Given the description of an element on the screen output the (x, y) to click on. 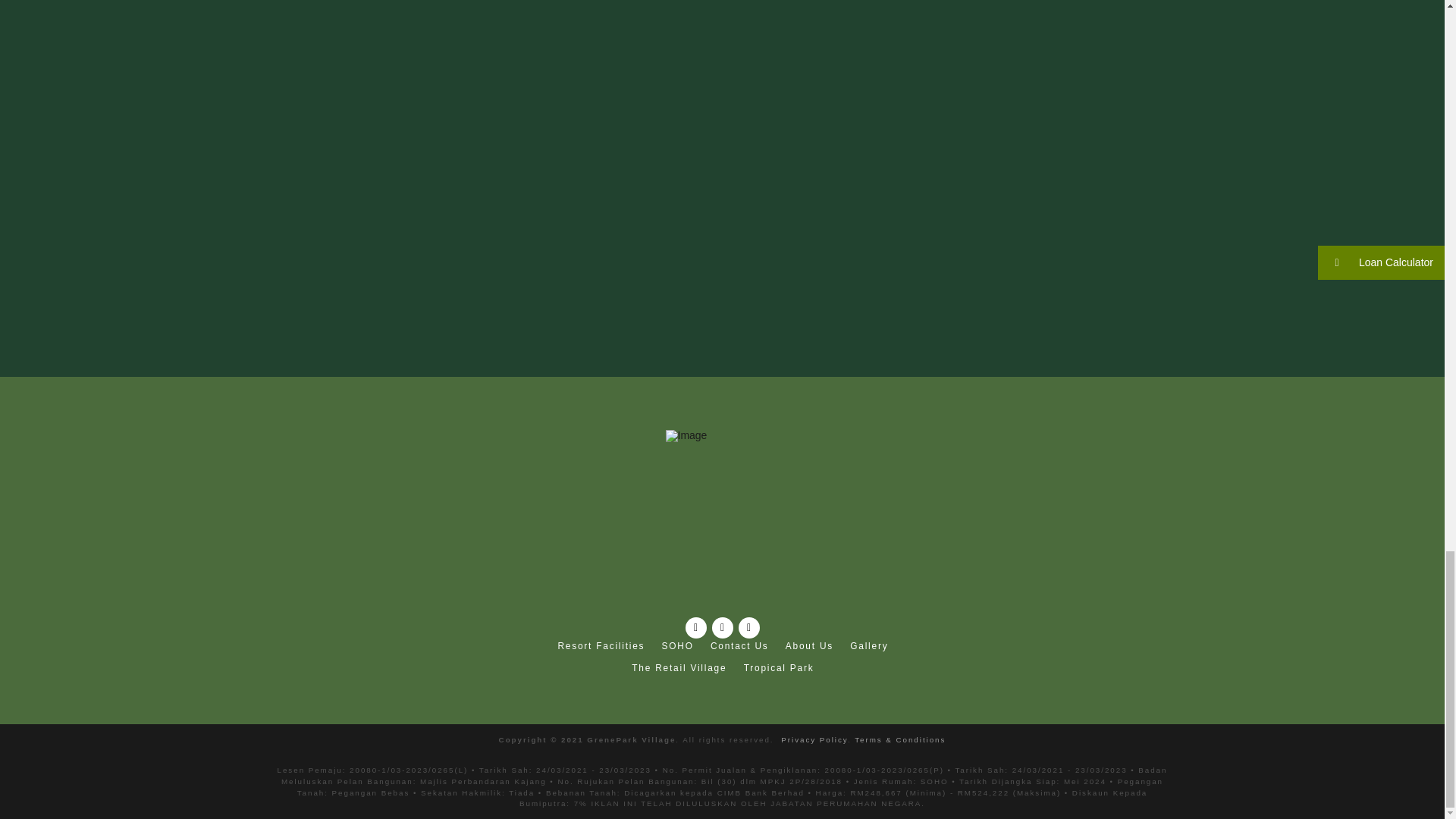
Tropical Park (778, 666)
Privacy Policy (813, 739)
About Us (808, 647)
The Retail Village (678, 666)
Resort Facilities (600, 647)
Gallery (868, 647)
SOHO (676, 647)
Contact Us (738, 647)
